Given the description of an element on the screen output the (x, y) to click on. 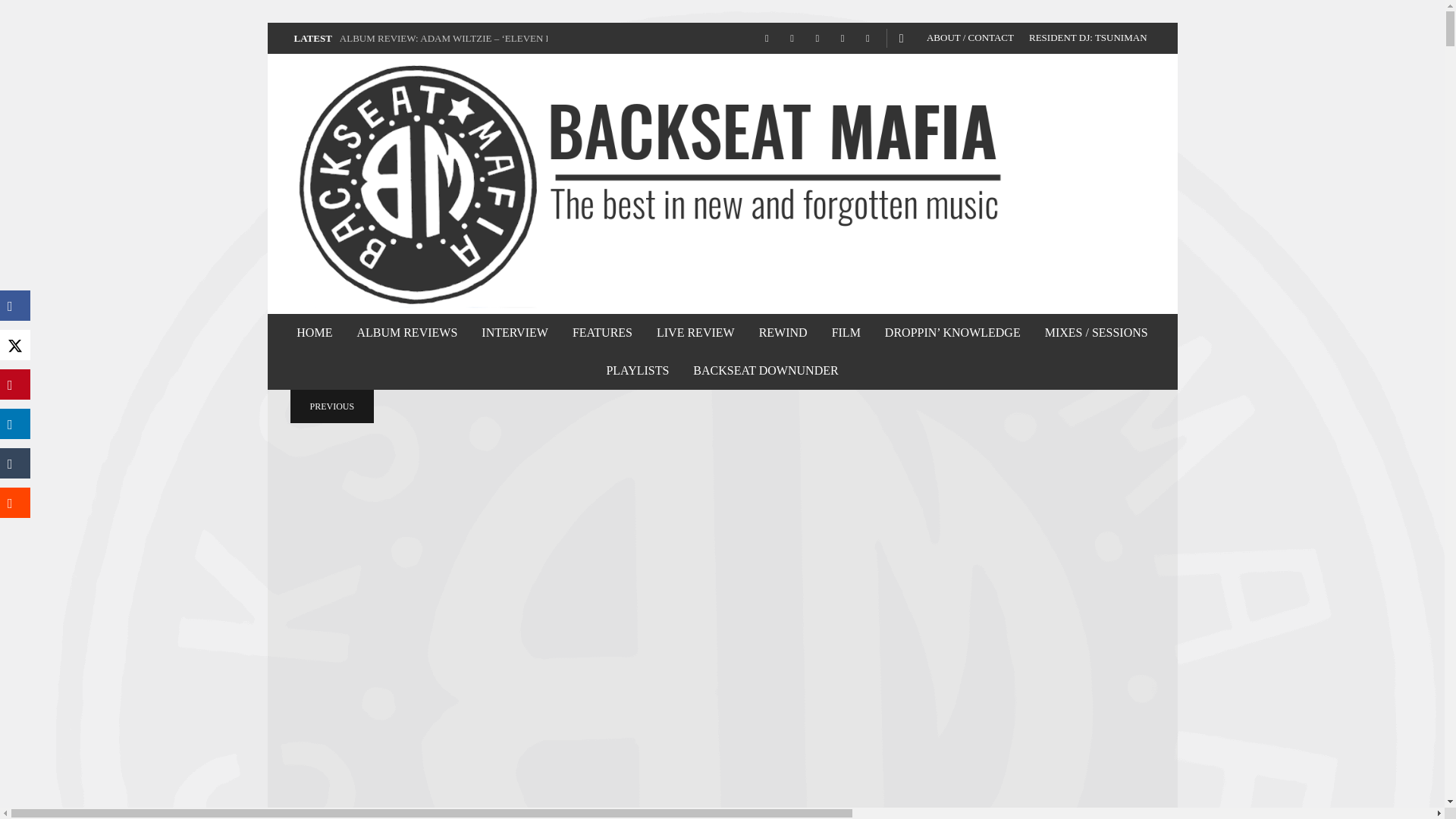
RESIDENT DJ: TSUNIMAN (1088, 37)
INTERVIEW (514, 332)
HOME (313, 332)
PLAYLISTS (637, 370)
FILM (845, 332)
LIVE REVIEW (695, 332)
FEATURES (602, 332)
REWIND (782, 332)
ALBUM REVIEWS (405, 332)
